Given the description of an element on the screen output the (x, y) to click on. 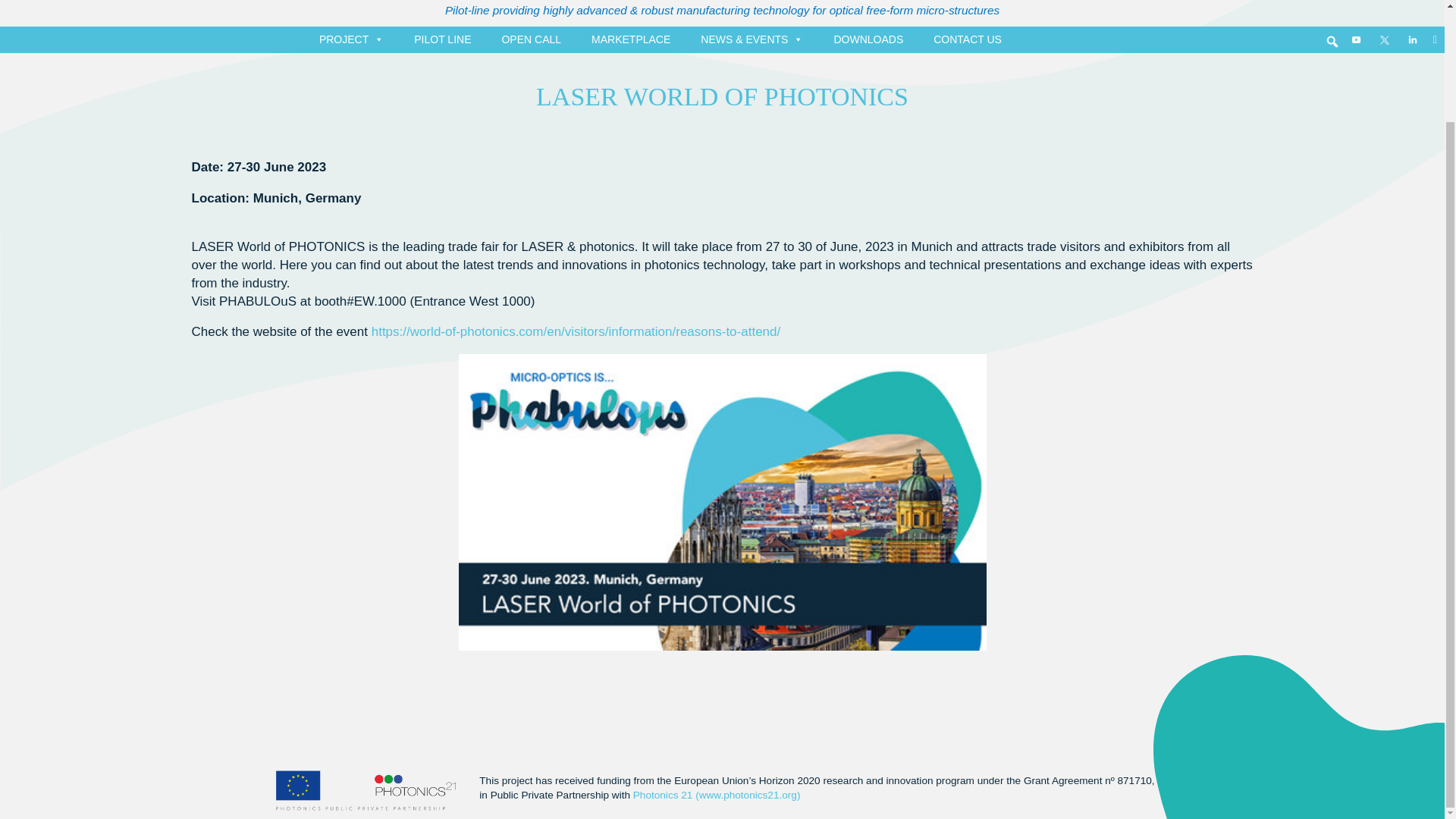
PROJECT (351, 39)
LASER WORLD OF PHOTONICS (721, 96)
OPEN CALL (531, 39)
PILOT LINE (442, 39)
LASER World of PHOTONICS (721, 96)
CONTACT US (967, 39)
MARKETPLACE (630, 39)
DOWNLOADS (868, 39)
